Given the description of an element on the screen output the (x, y) to click on. 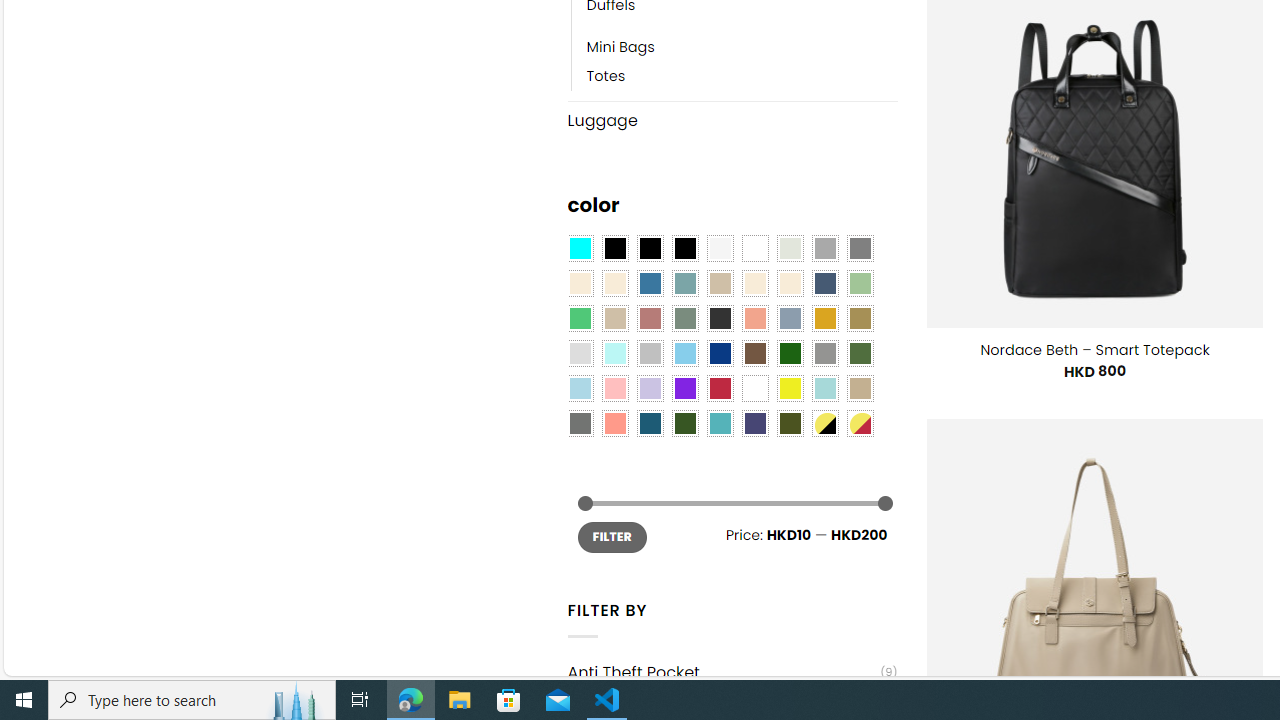
Brownie (719, 283)
Totes (605, 76)
Yellow-Red (859, 424)
FILTER (612, 536)
Hale Navy (824, 283)
Kelp (859, 318)
Light Purple (650, 388)
Blue Sage (684, 283)
Mini Bags (620, 48)
Sky Blue (684, 354)
Brown (755, 354)
Aqua (824, 388)
Pearly White (719, 249)
Light Gray (579, 354)
Pink (614, 388)
